Given the description of an element on the screen output the (x, y) to click on. 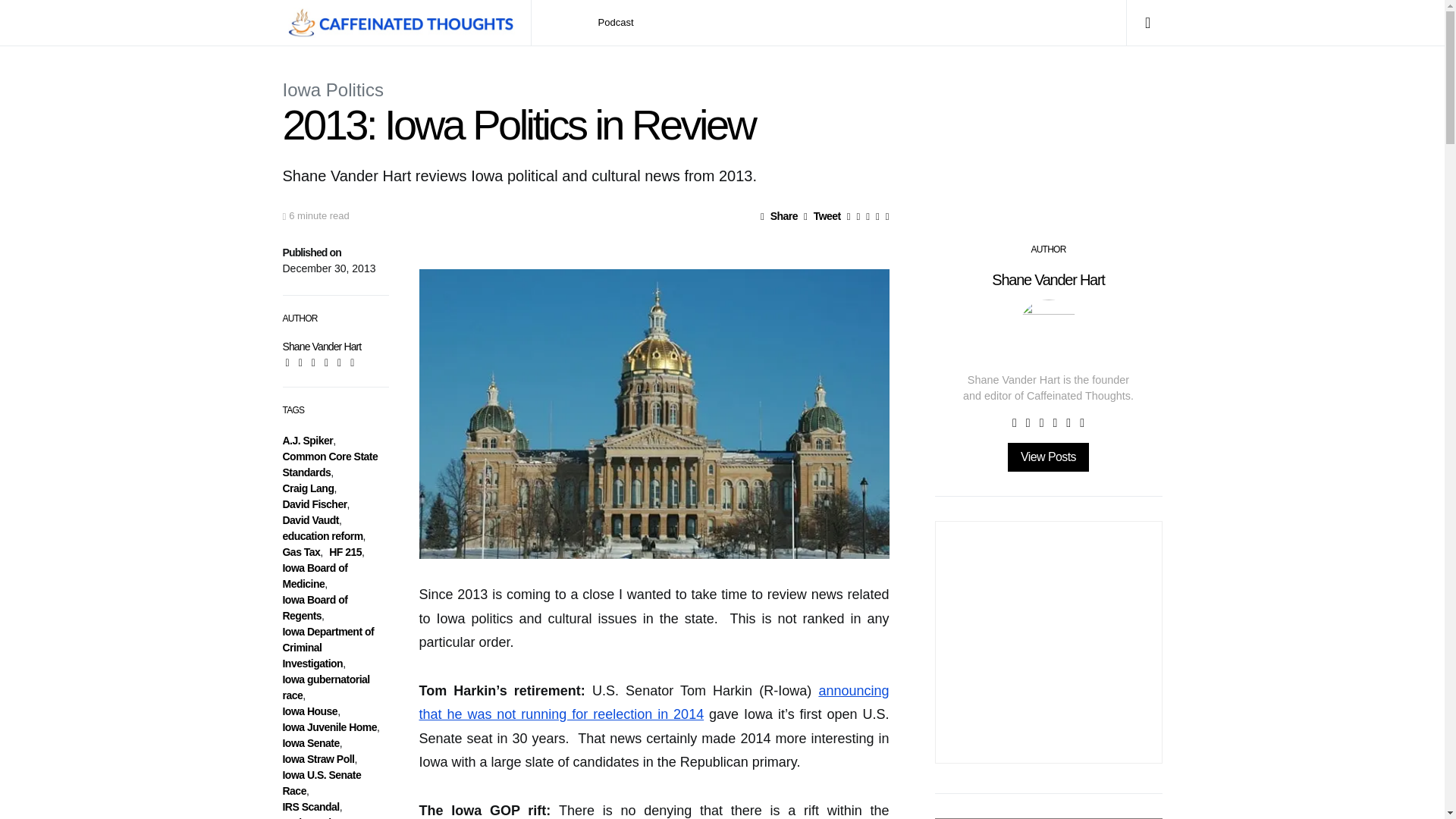
Share (778, 216)
Shane Vander Hart (321, 346)
Iowa Politics (332, 89)
Craig Lang (307, 488)
David Fischer (314, 503)
Tweet (822, 216)
Common Core State Standards (329, 464)
Podcast (616, 22)
A.J. Spiker (307, 440)
